Given the description of an element on the screen output the (x, y) to click on. 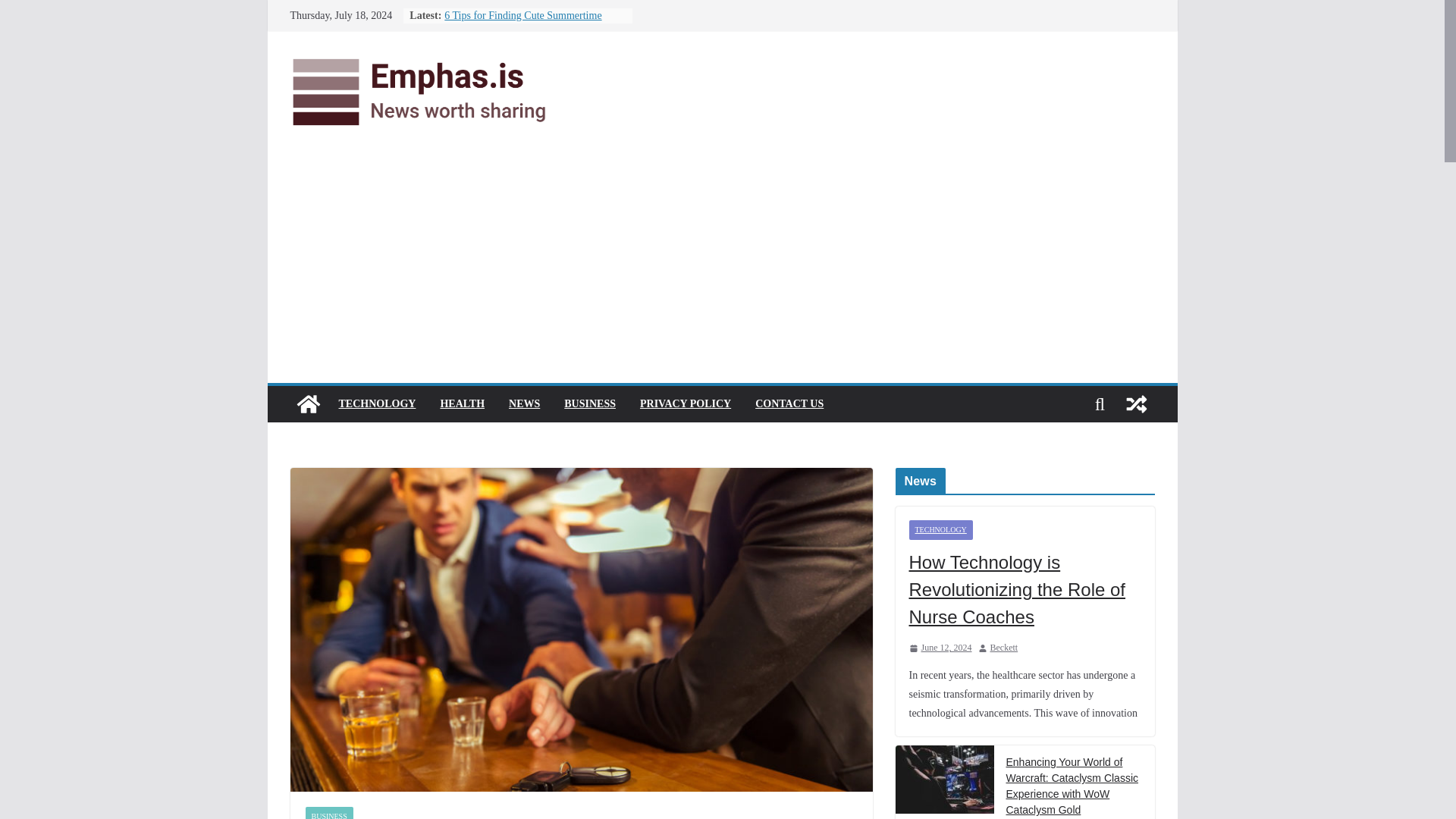
View a random post (1136, 402)
Emphas.is (307, 402)
How Technology is Revolutionizing the Role of Nurse Coaches (1024, 589)
Beckett (1003, 647)
NEWS (524, 403)
6 Tips for Finding Cute Summertime Clothes for Your Kids (522, 22)
PRIVACY POLICY (685, 403)
CONTACT US (789, 403)
TECHNOLOGY (375, 403)
June 12, 2024 (939, 647)
6 Tips for Finding Cute Summertime Clothes for Your Kids (522, 22)
BUSINESS (589, 403)
HEALTH (461, 403)
BUSINESS (328, 812)
